Given the description of an element on the screen output the (x, y) to click on. 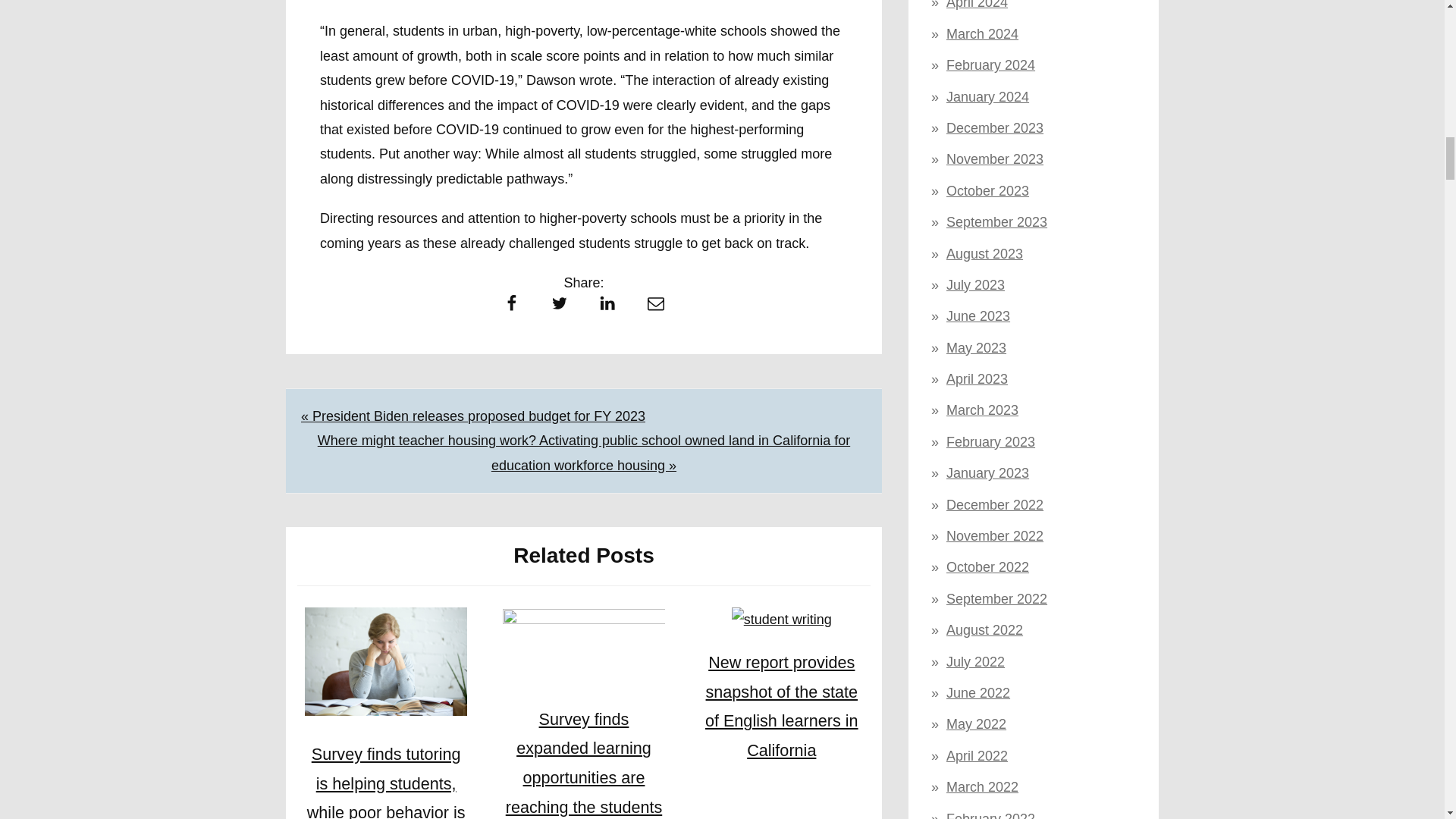
LinkedIn (606, 306)
Email (655, 306)
Facebook (511, 306)
Twitter (558, 306)
